Given the description of an element on the screen output the (x, y) to click on. 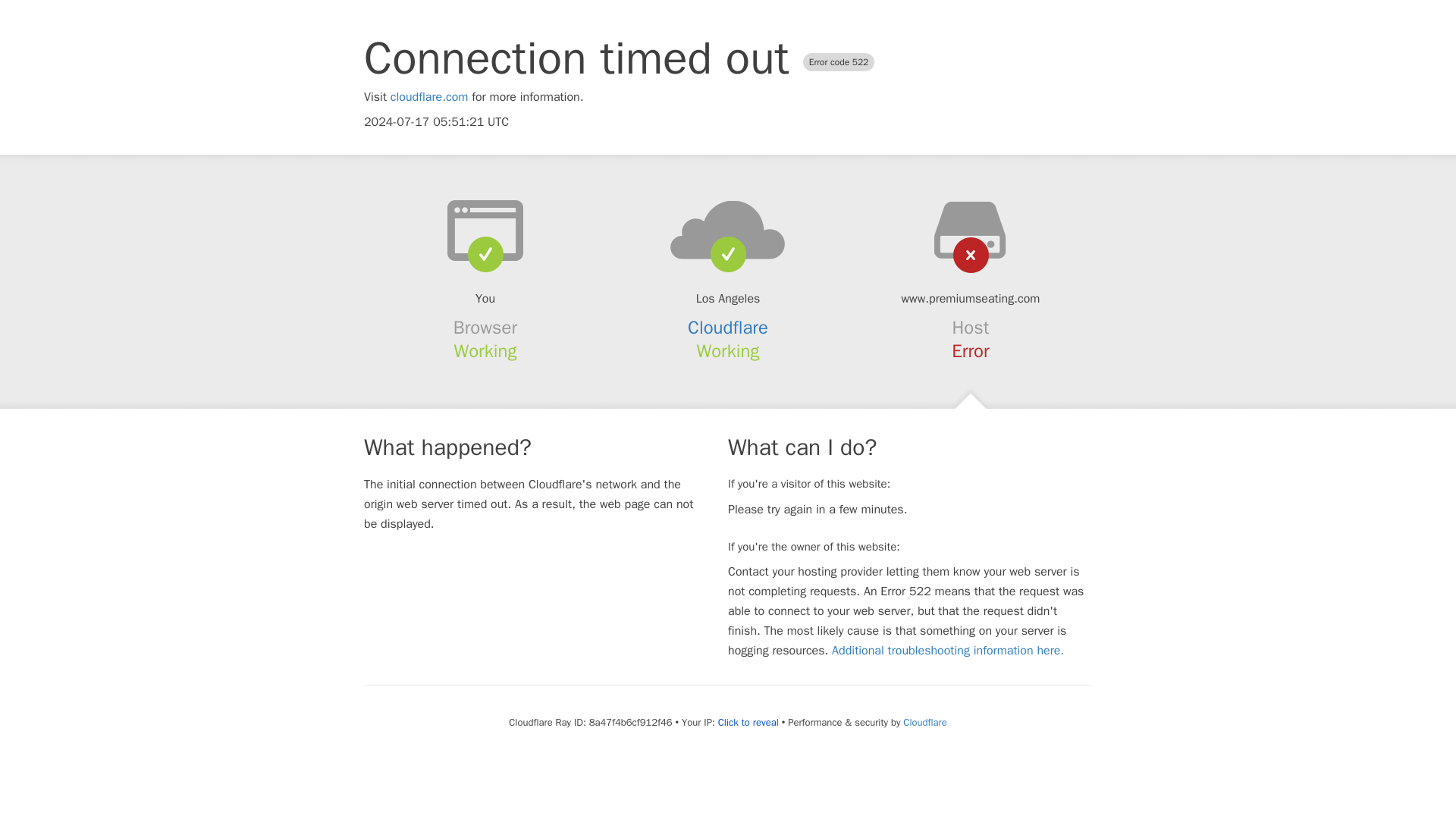
Cloudflare (727, 327)
Additional troubleshooting information here. (947, 650)
Click to reveal (747, 722)
cloudflare.com (429, 96)
Cloudflare (924, 721)
